Given the description of an element on the screen output the (x, y) to click on. 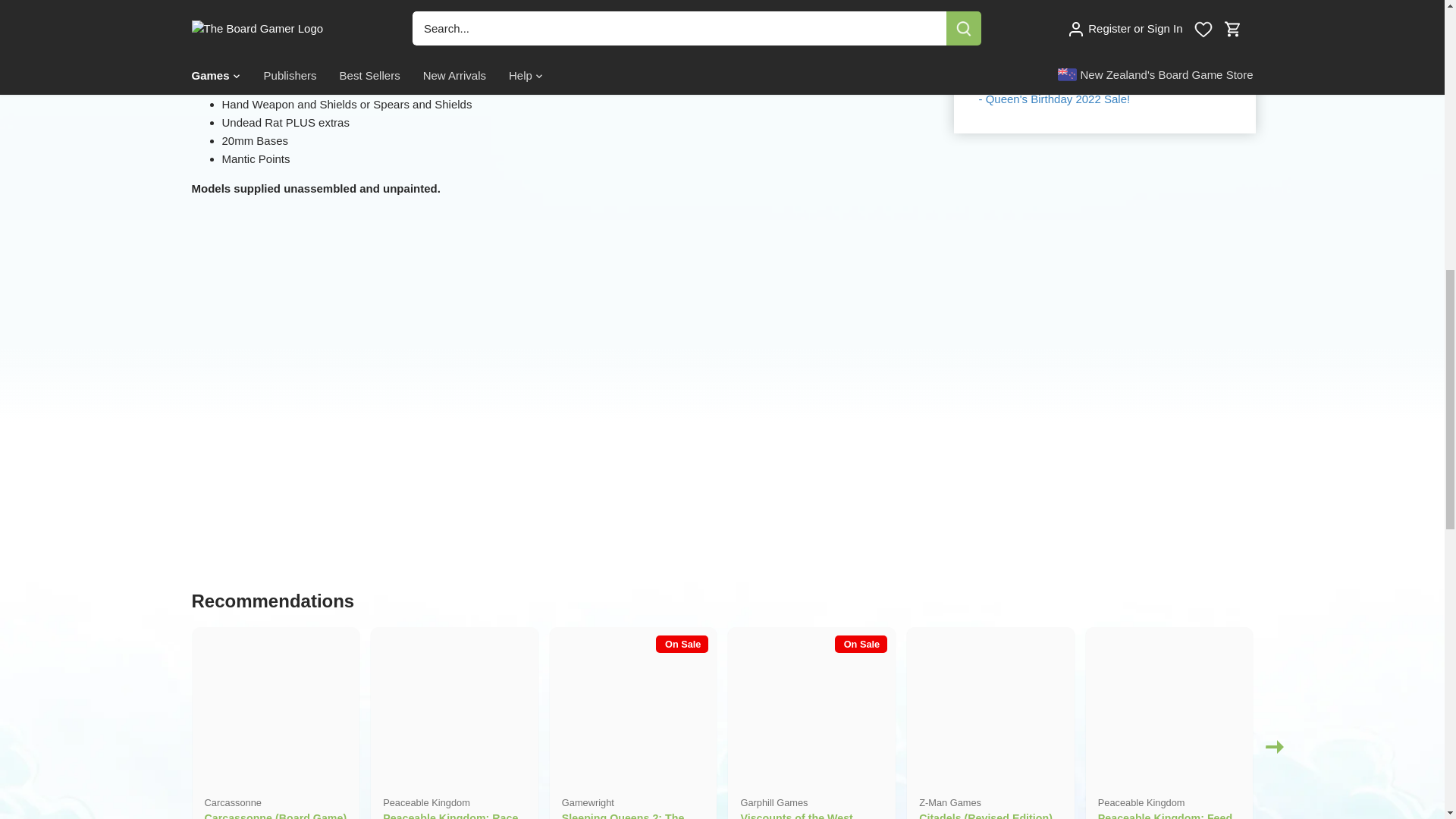
All Games, (1071, 62)
Sale Games, (1087, 80)
Best Sellers, (1135, 62)
Puzzles for Mother's Day!, (1101, 71)
